Given the description of an element on the screen output the (x, y) to click on. 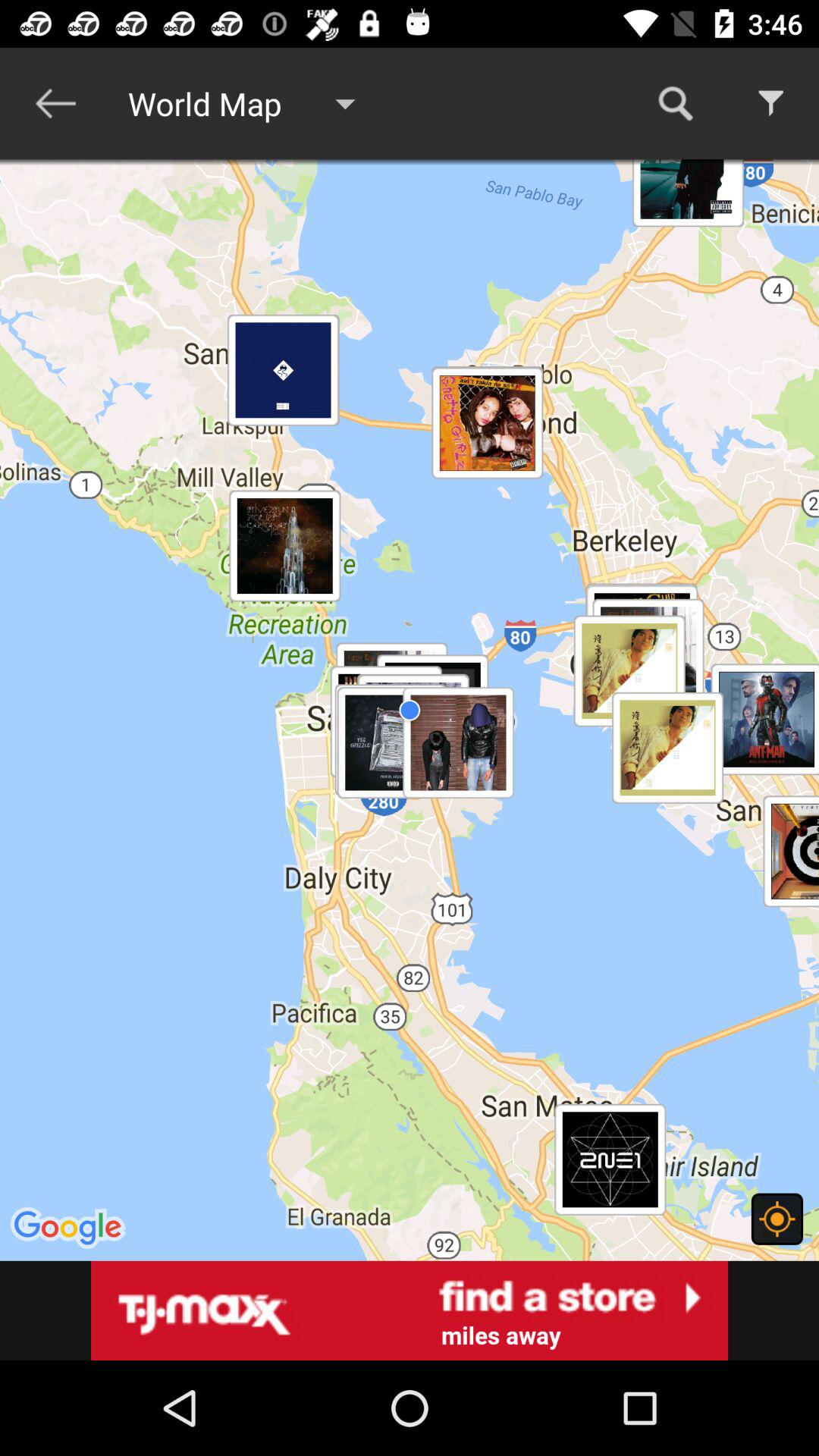
turn on the item next to world map (675, 103)
